Given the description of an element on the screen output the (x, y) to click on. 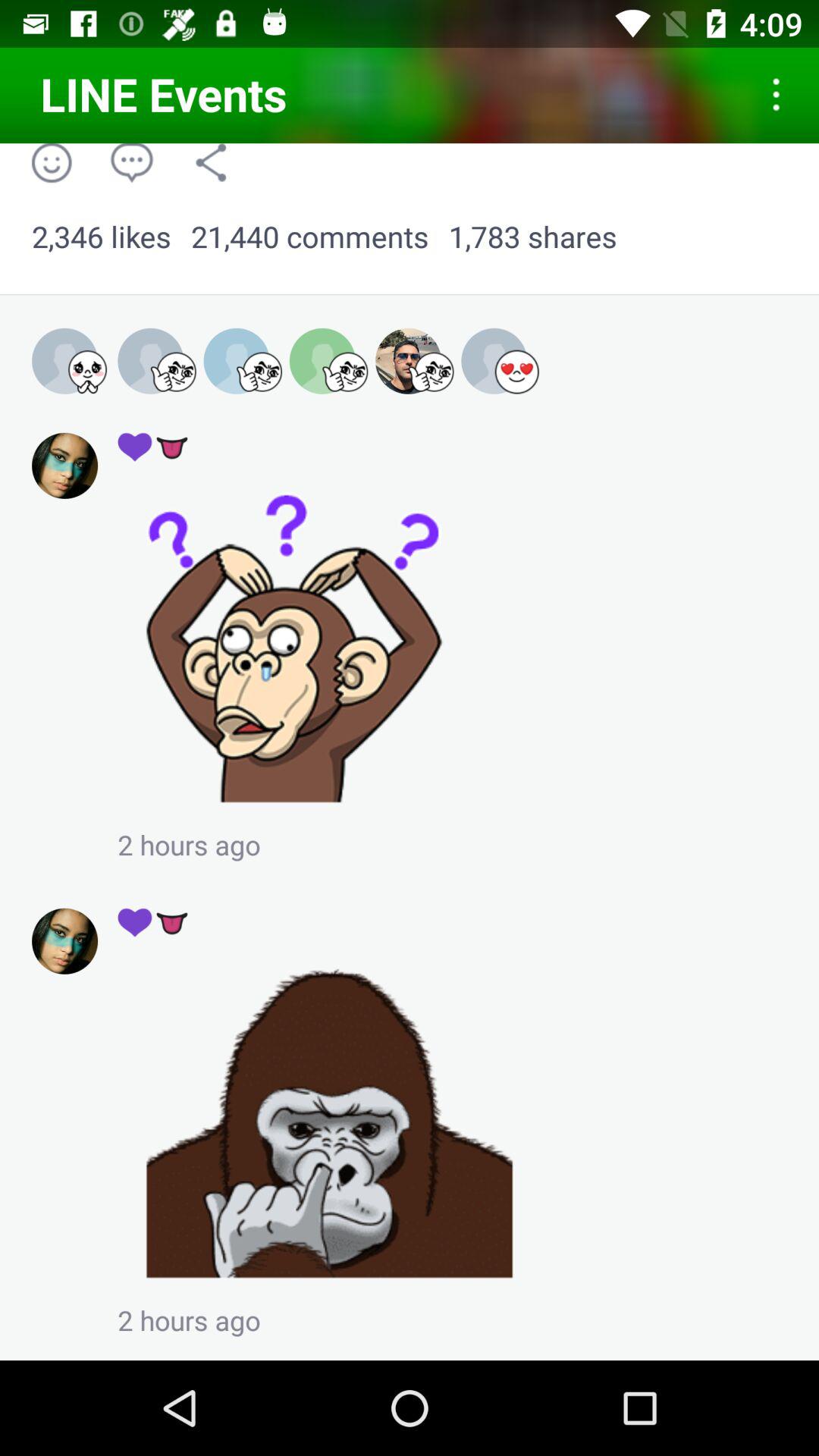
click item above the 2,346 likes icon (210, 162)
